Given the description of an element on the screen output the (x, y) to click on. 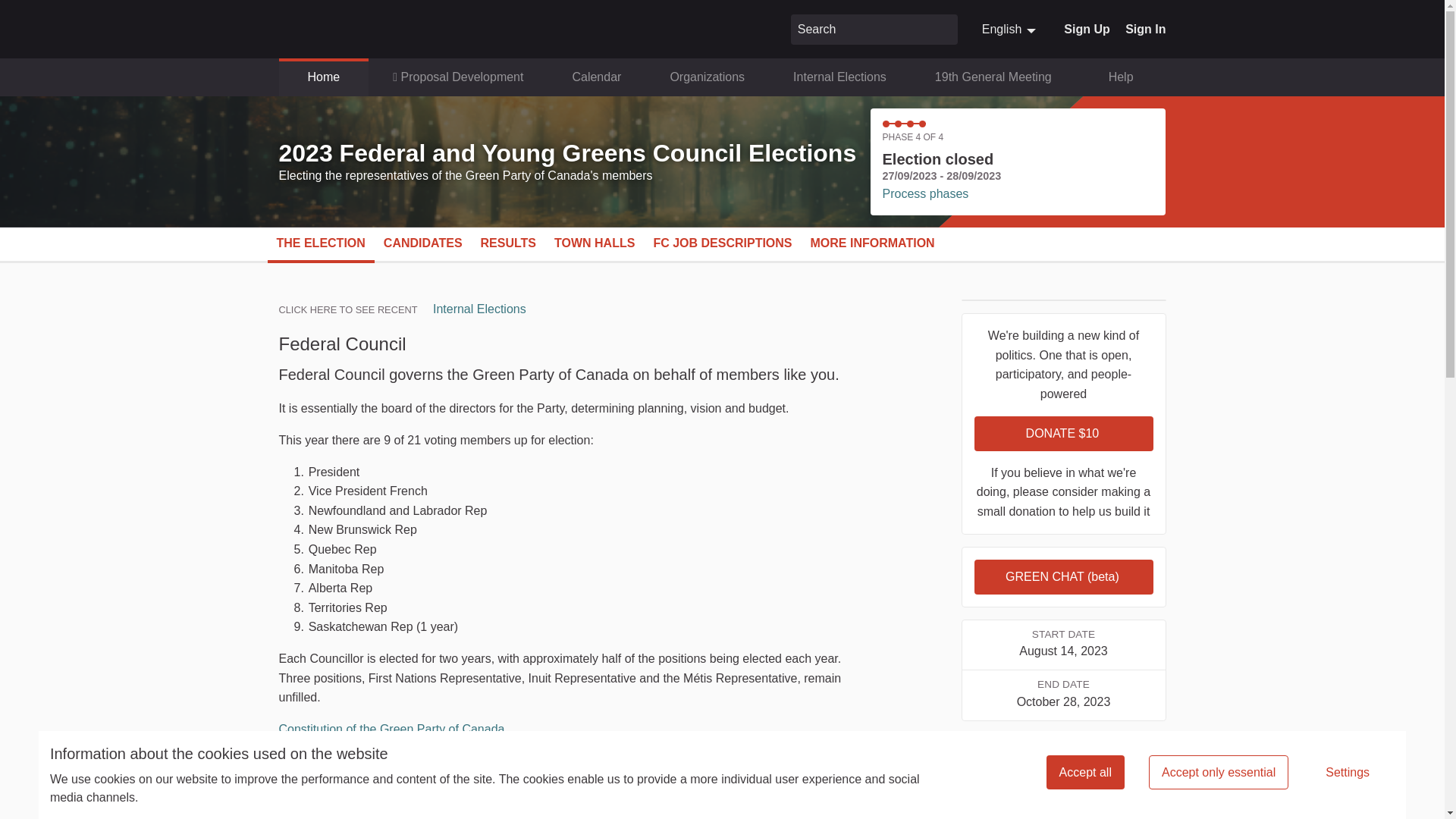
Help (1120, 77)
Process phases (925, 193)
Home (324, 77)
Organizations (706, 77)
Accept only essential (1218, 772)
Settings (1347, 772)
19th General Meeting (993, 77)
Sign Up (1086, 29)
CANDIDATES (423, 243)
TOWN HALLS (1010, 28)
Internal Elections (594, 243)
Search (478, 308)
Accept all (944, 28)
chat (1085, 772)
